Given the description of an element on the screen output the (x, y) to click on. 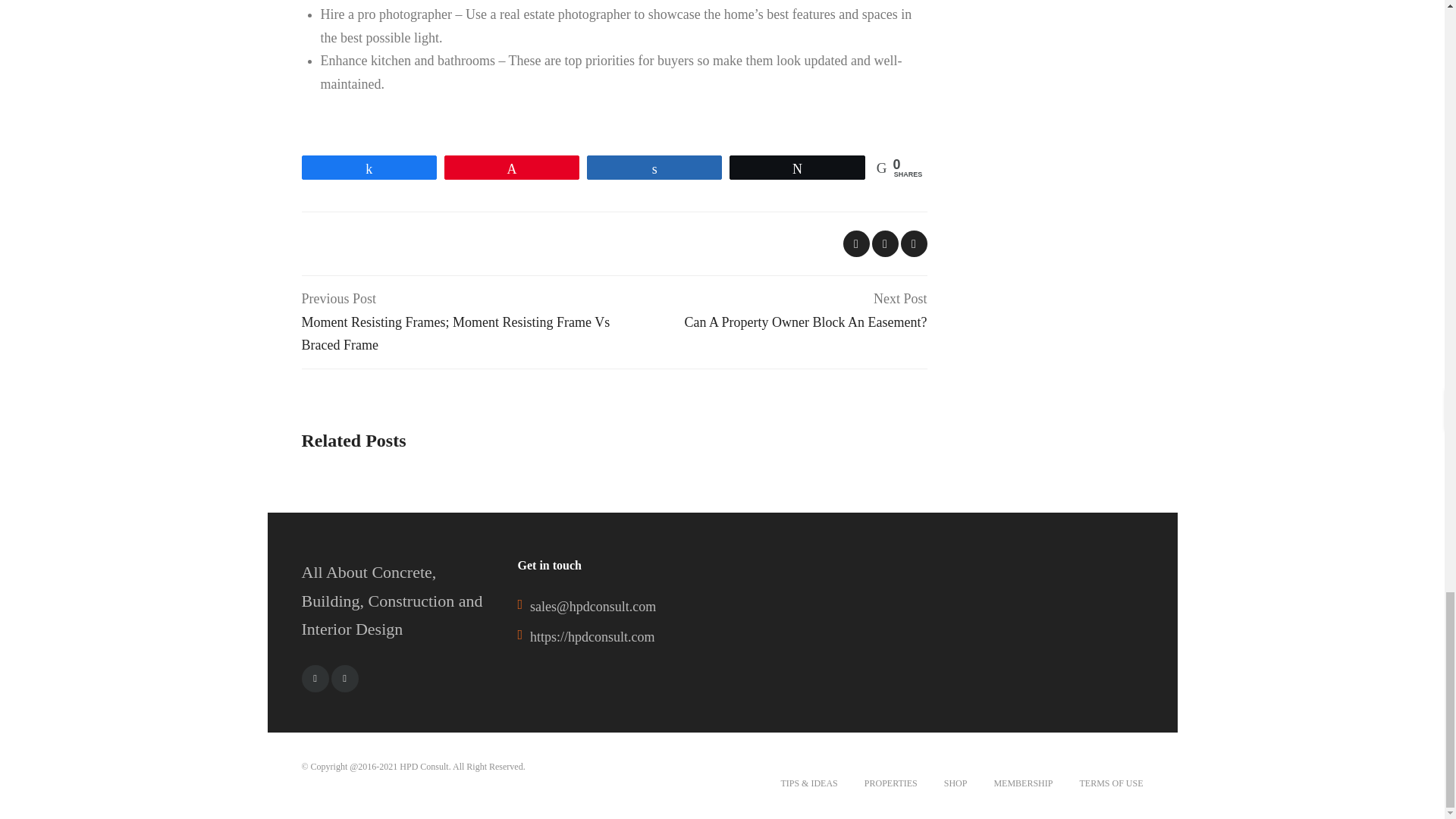
Facebook (315, 678)
Twitter (344, 678)
